Given the description of an element on the screen output the (x, y) to click on. 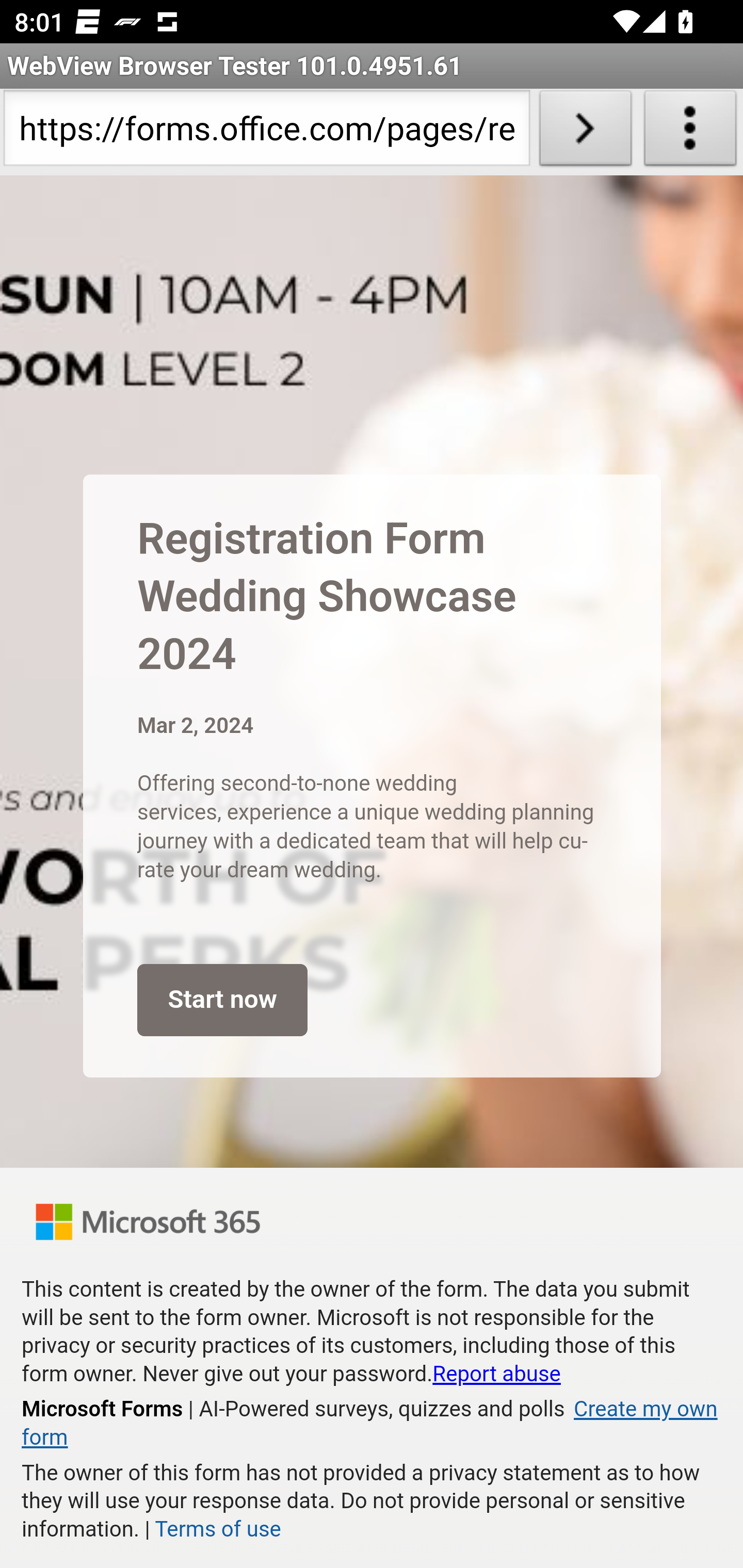
Load URL (585, 132)
About WebView (690, 132)
Microsoft 365 (148, 1221)
Report abuse (496, 1374)
Microsoft Forms (102, 1408)
Create my own form (369, 1423)
Terms of use (217, 1529)
